Given the description of an element on the screen output the (x, y) to click on. 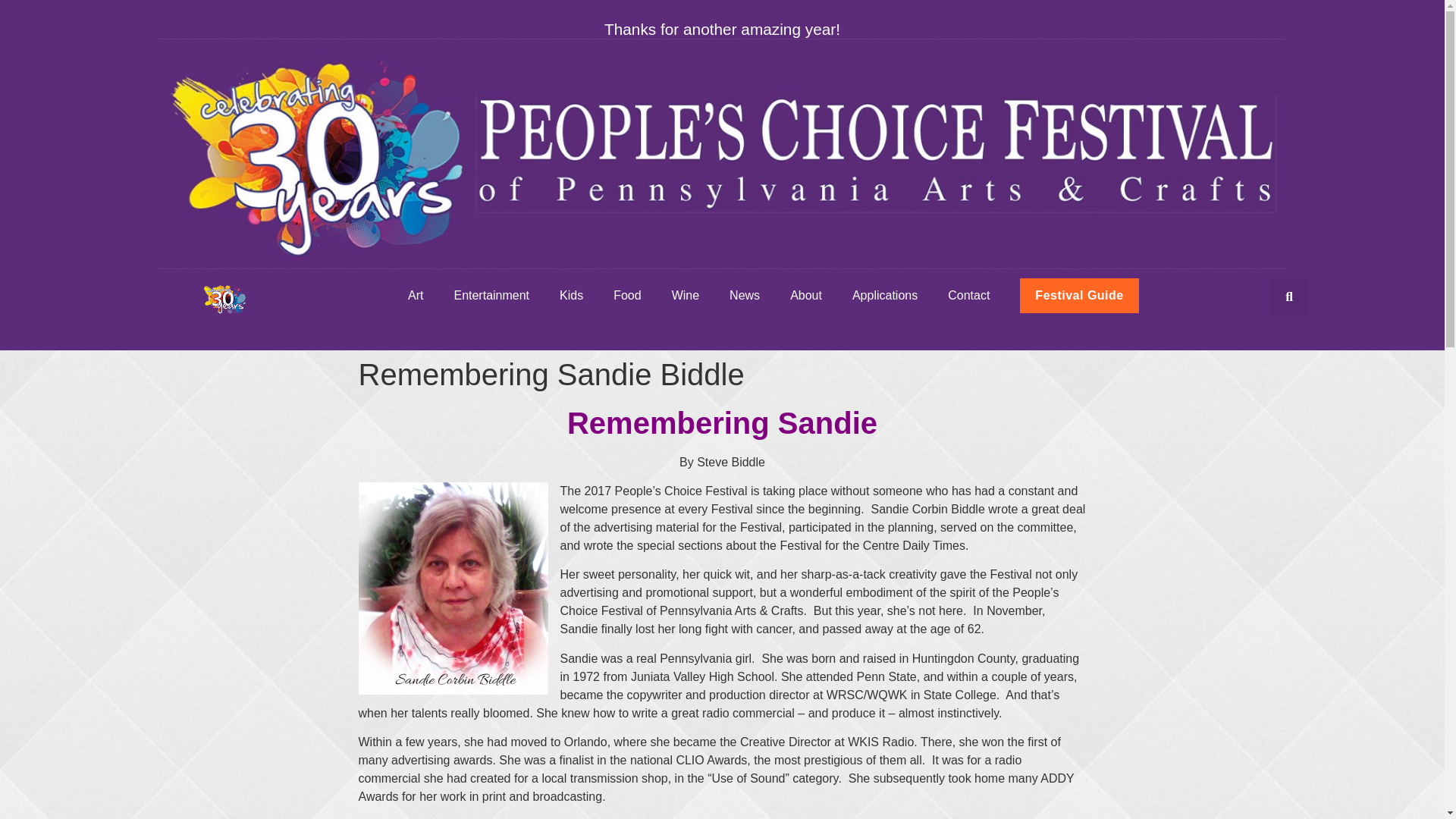
Art (415, 295)
Festival Guide (1079, 295)
Contact (968, 295)
Applications (885, 295)
Kids (571, 295)
About (805, 295)
Food (627, 295)
Entertainment (491, 295)
News (744, 295)
Wine (685, 295)
